Given the description of an element on the screen output the (x, y) to click on. 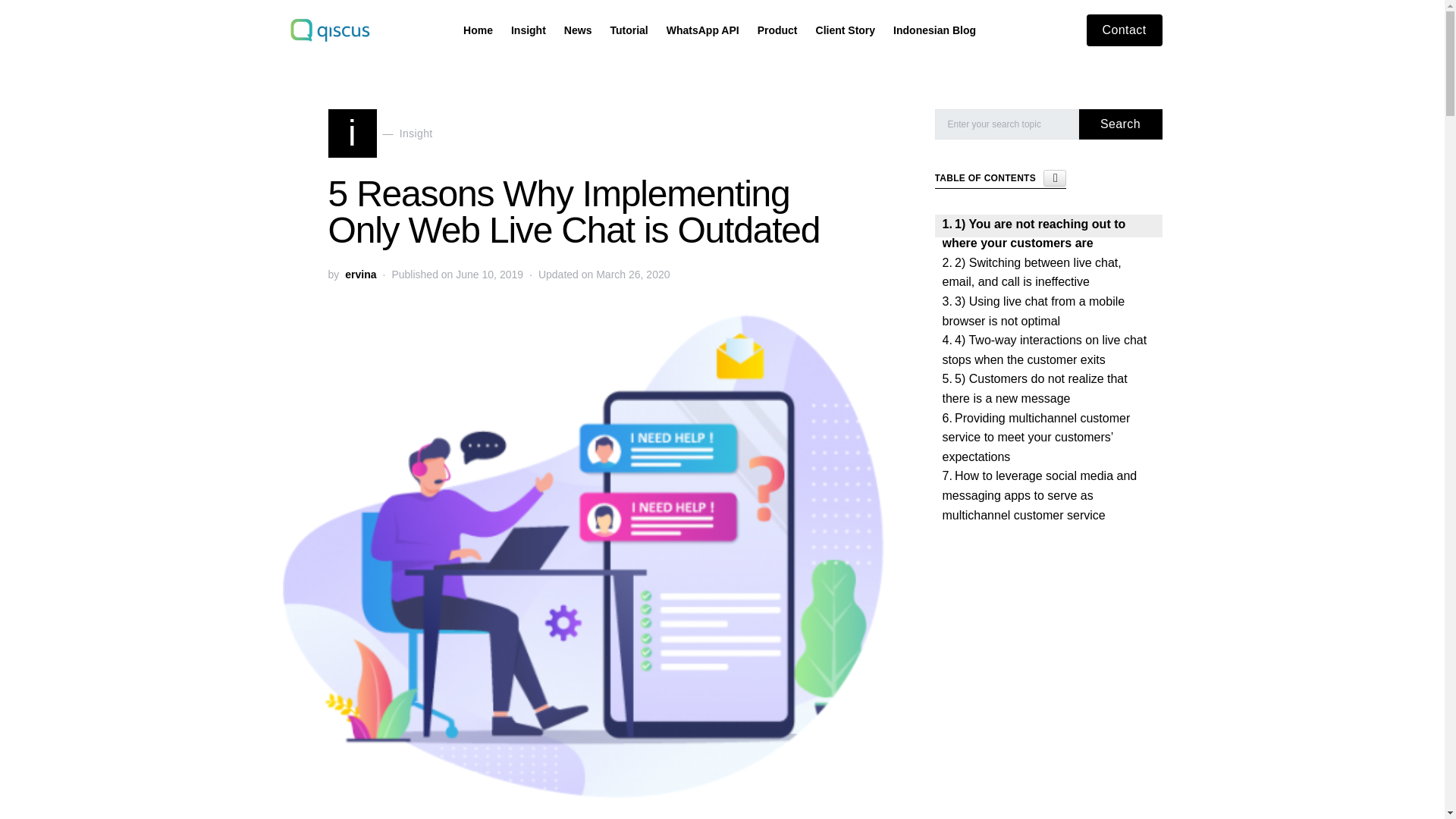
WhatsApp API (379, 133)
Contact (703, 30)
Client Story (1123, 29)
Product (845, 30)
View all posts by ervina (777, 30)
Tutorial (360, 274)
Indonesian Blog (627, 30)
ervina (929, 30)
